Given the description of an element on the screen output the (x, y) to click on. 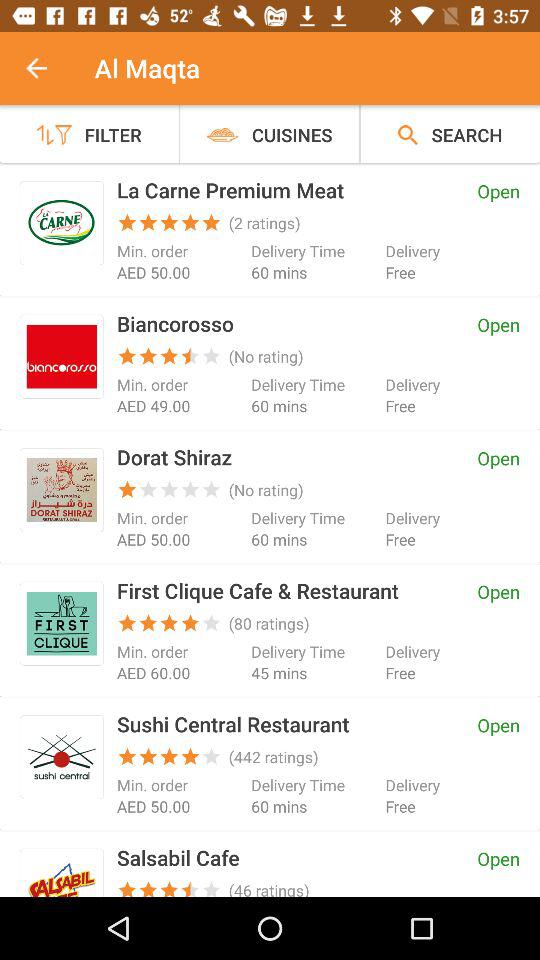
view the salsabil cafe info page (61, 876)
